Given the description of an element on the screen output the (x, y) to click on. 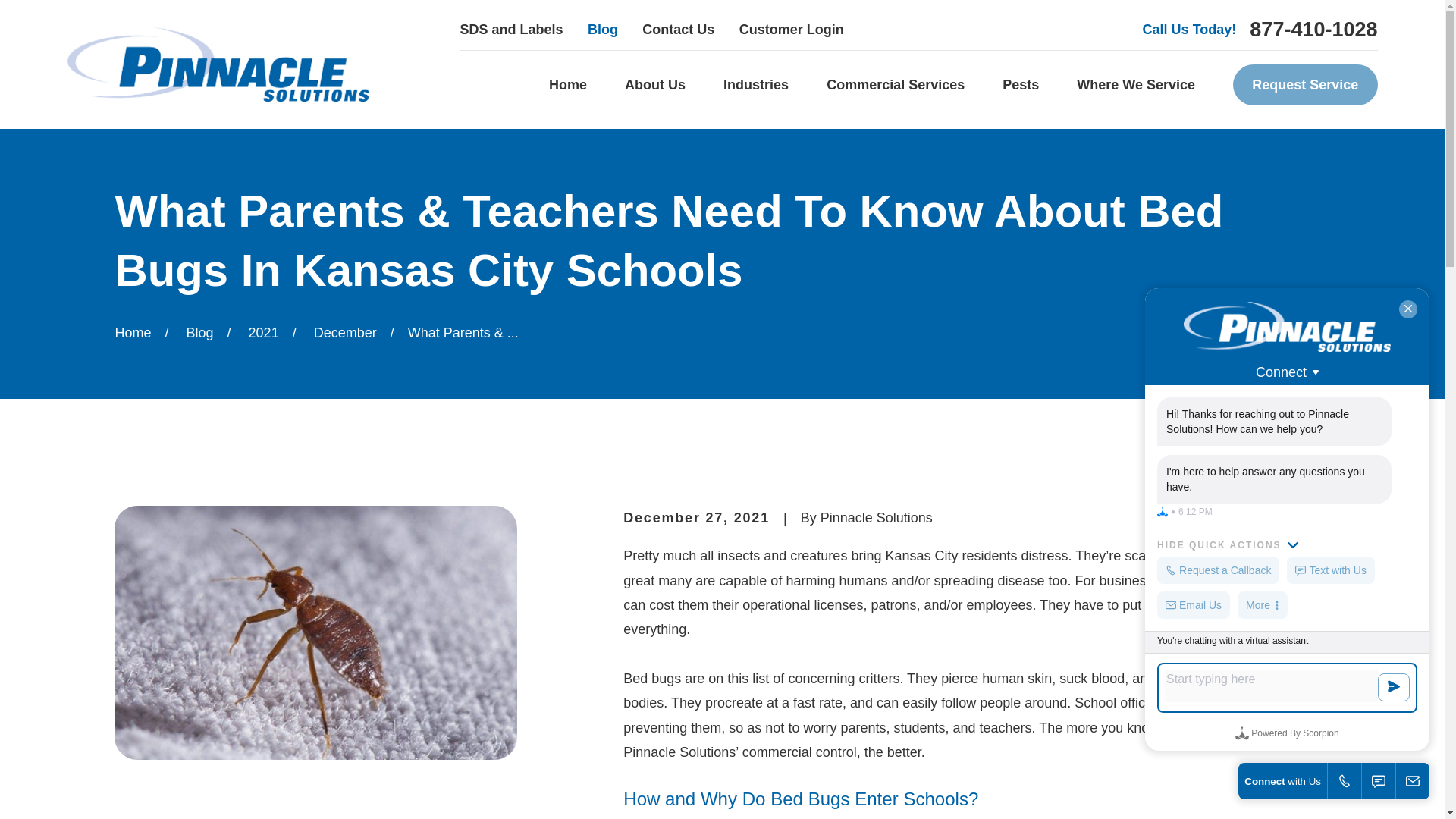
Where We Service (1136, 84)
SDS and Labels (511, 29)
Commercial Services (895, 84)
Go Home (133, 332)
877-410-1028 (1313, 29)
Industries (756, 84)
Pinnacle Solutions (217, 64)
About Us (654, 84)
Blog (602, 29)
Home (567, 84)
Customer Login (791, 29)
Contact Us (678, 29)
Home (217, 64)
